Given the description of an element on the screen output the (x, y) to click on. 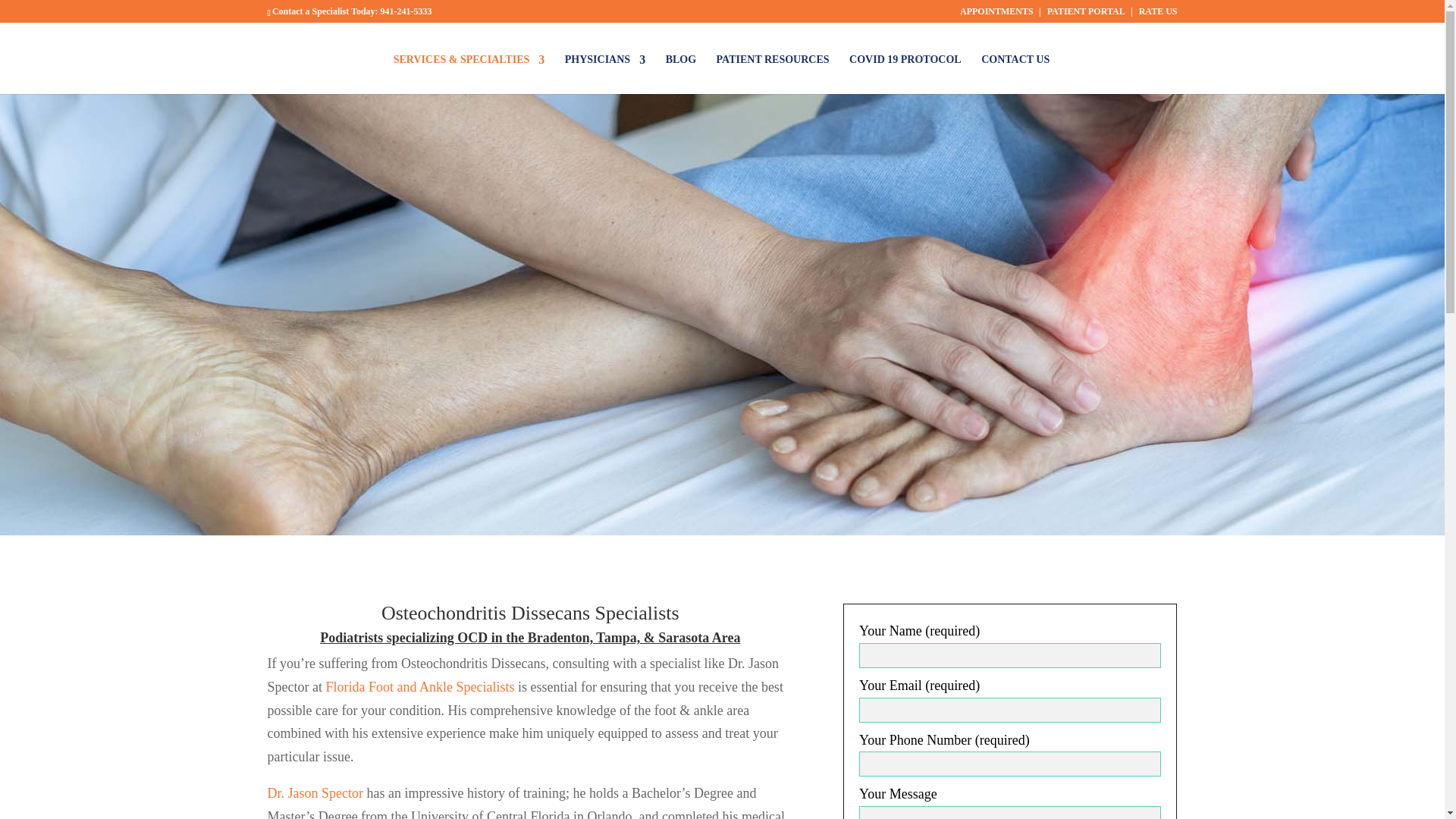
APPOINTMENTS (996, 14)
RATE US (1157, 14)
Contact a Specialist Today: 941-241-5333 (352, 10)
PATIENT PORTAL (1085, 14)
